Given the description of an element on the screen output the (x, y) to click on. 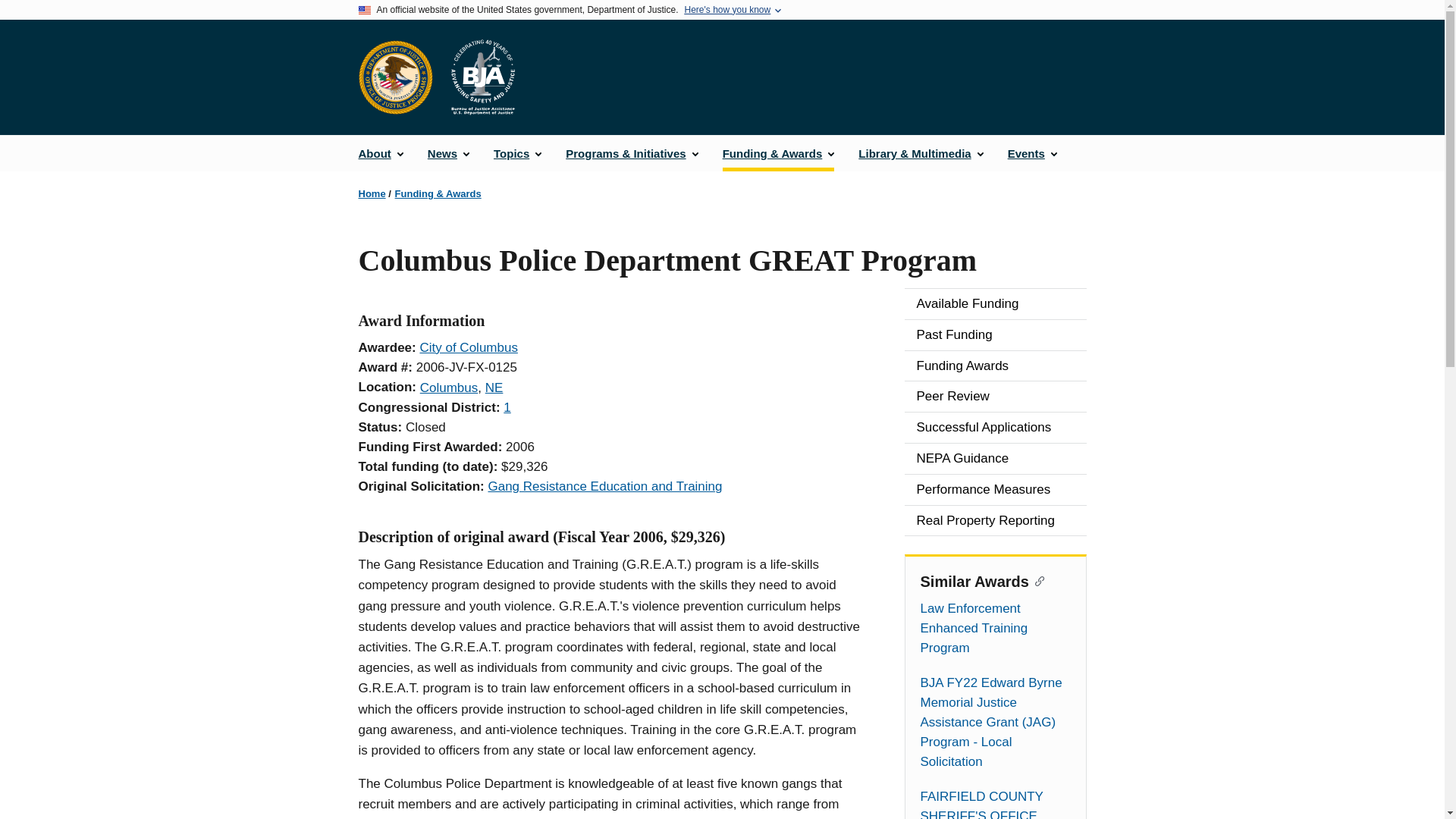
News (447, 153)
Home (371, 193)
Successful Applications (995, 427)
Performance Measures (995, 490)
Peer Review (995, 396)
Copy link to section: Similar Awards (1037, 580)
Funding Awards (995, 366)
Office of Justice Programs (395, 77)
City of Columbus (467, 347)
